Given the description of an element on the screen output the (x, y) to click on. 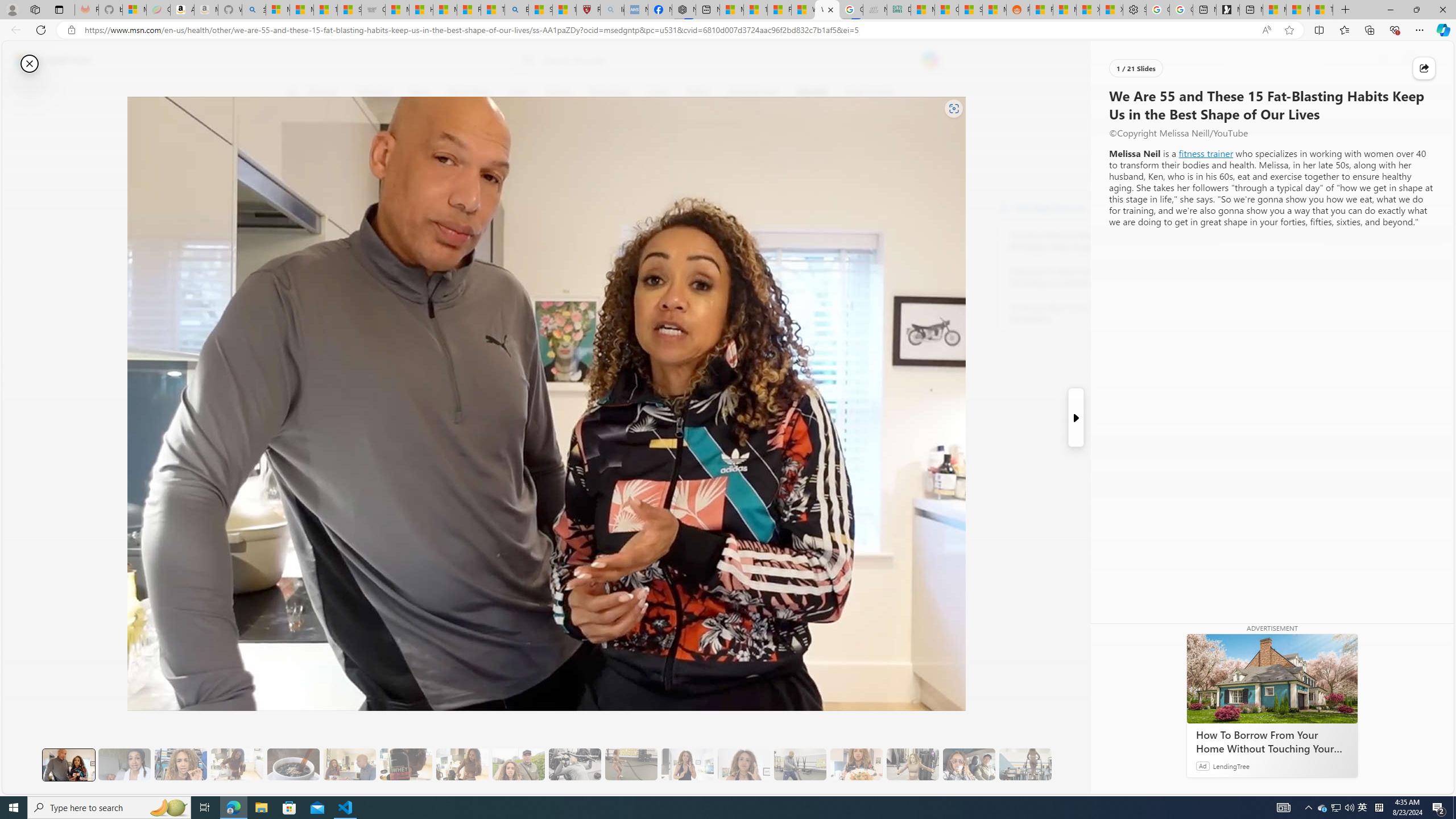
Local (517, 92)
2 They Use Protein Powder for Flavor (180, 764)
Science (557, 92)
8 Be Mindful of Coffee (293, 764)
Share this story (1423, 67)
1 We Eat a Protein-Packed Pre-Workout Snack (124, 764)
10 Then, They Do HIIT Cardio (631, 764)
Science (558, 92)
10 Then, They Do HIIT Cardio (631, 764)
Open settings (1427, 60)
